Given the description of an element on the screen output the (x, y) to click on. 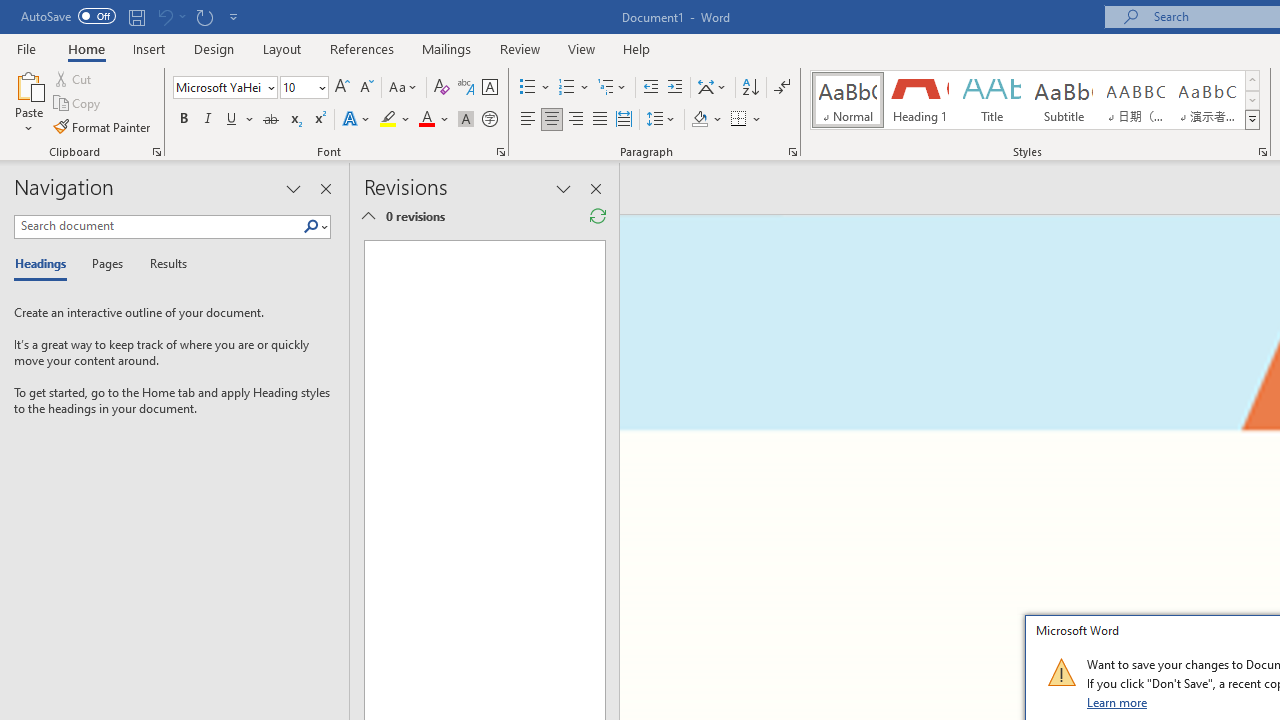
Title (991, 100)
Shading (706, 119)
Center (552, 119)
Styles (1252, 120)
Show Detailed Summary (368, 215)
Row Down (1252, 100)
Superscript (319, 119)
Increase Indent (675, 87)
